Given the description of an element on the screen output the (x, y) to click on. 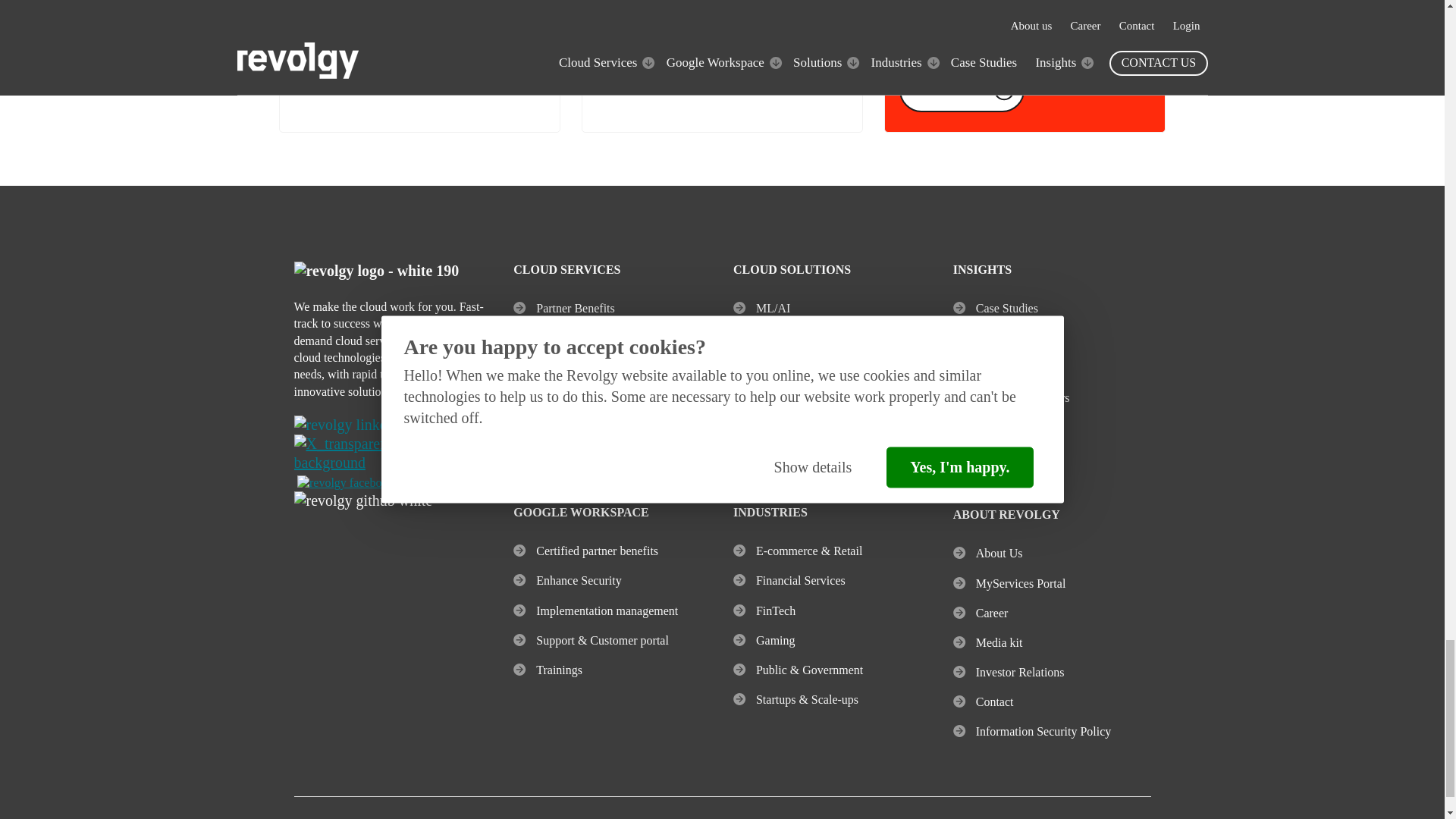
Subscribe (962, 89)
true (905, 46)
